Given the description of an element on the screen output the (x, y) to click on. 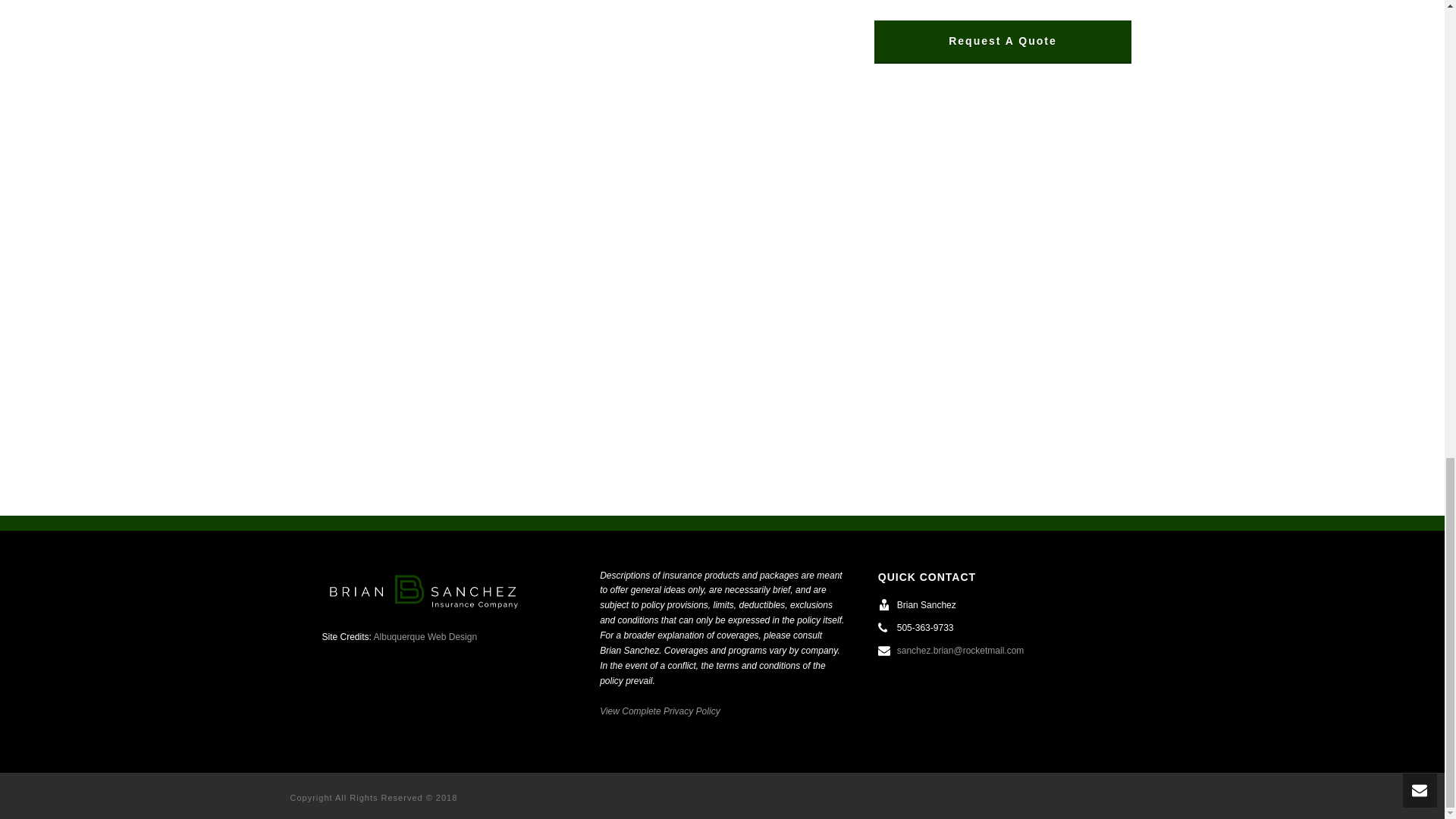
View Complete Privacy Policy (659, 710)
Albuquerque Web Design (425, 636)
Request A Quote (1002, 40)
Request A Quote (1002, 40)
